Given the description of an element on the screen output the (x, y) to click on. 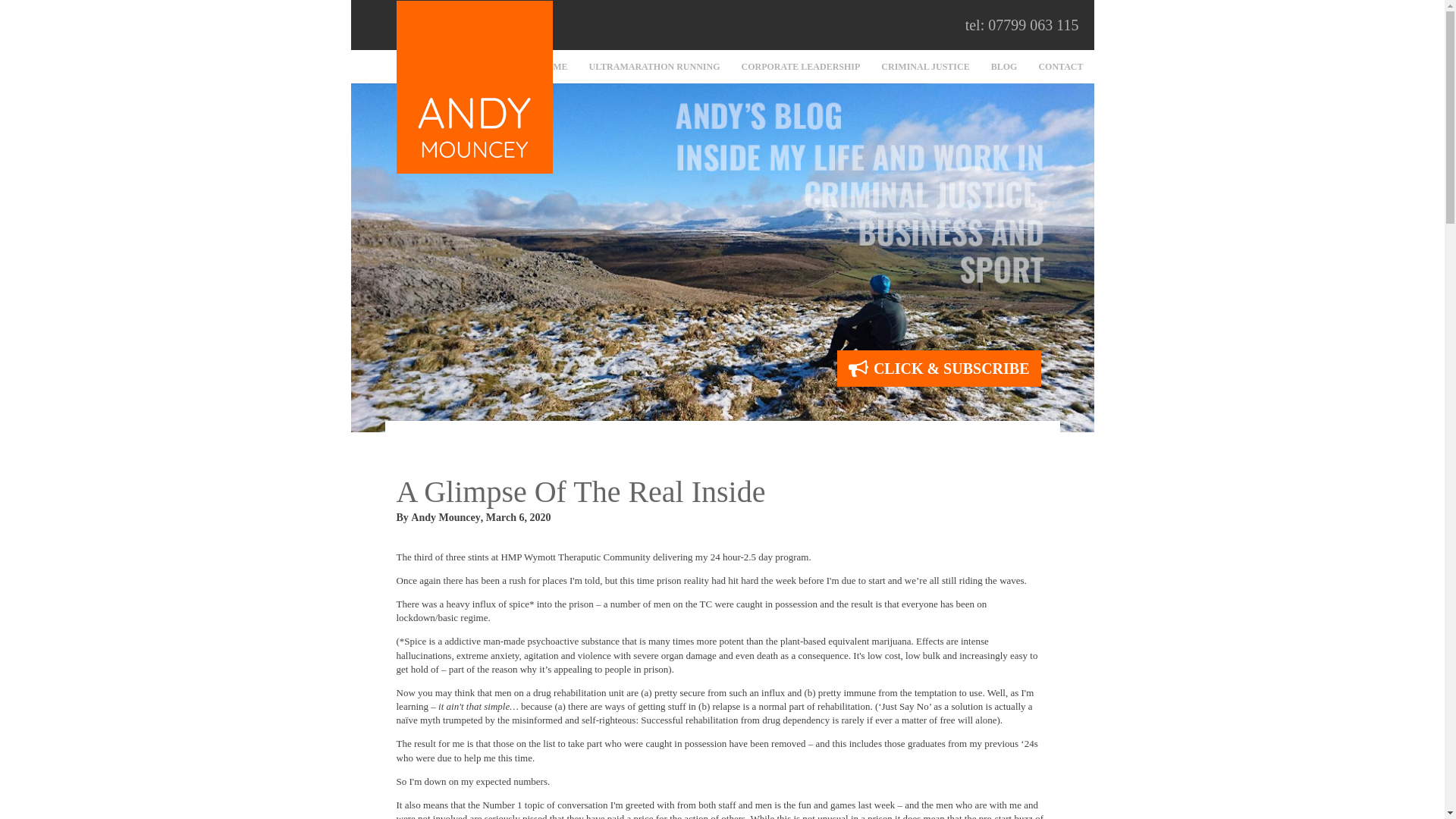
tel: 07799 063 115 (1021, 25)
BLOG (1003, 66)
CORPORATE LEADERSHIP (800, 66)
CONTACT (1060, 66)
CRIMINAL JUSTICE (924, 66)
ULTRAMARATHON RUNNING (654, 66)
HOME (553, 66)
